Given the description of an element on the screen output the (x, y) to click on. 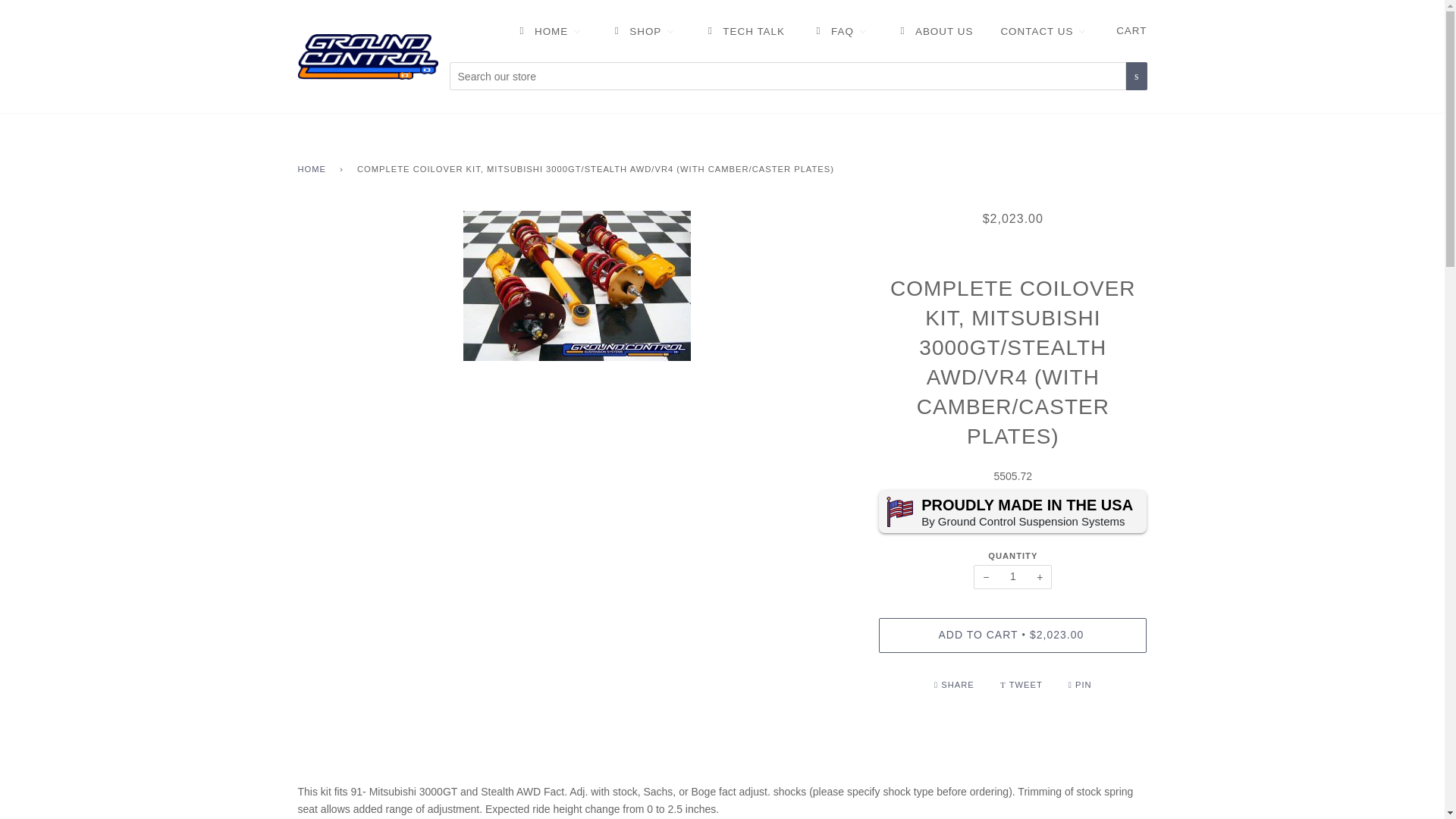
1 (1012, 576)
HOME (548, 31)
SHOP (642, 31)
